Given the description of an element on the screen output the (x, y) to click on. 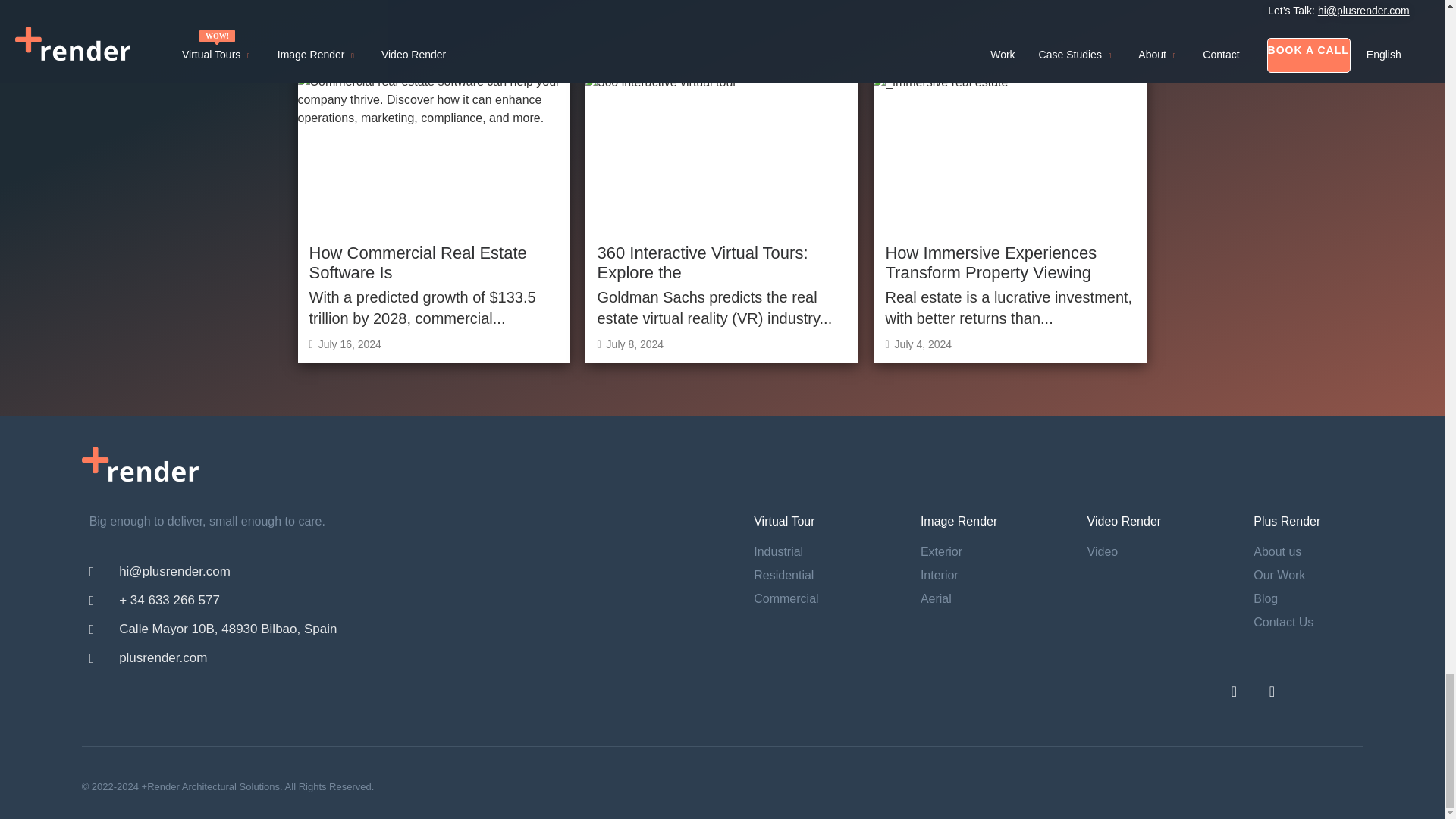
How Immersive Experiences Transform Property Viewing (990, 262)
